Given the description of an element on the screen output the (x, y) to click on. 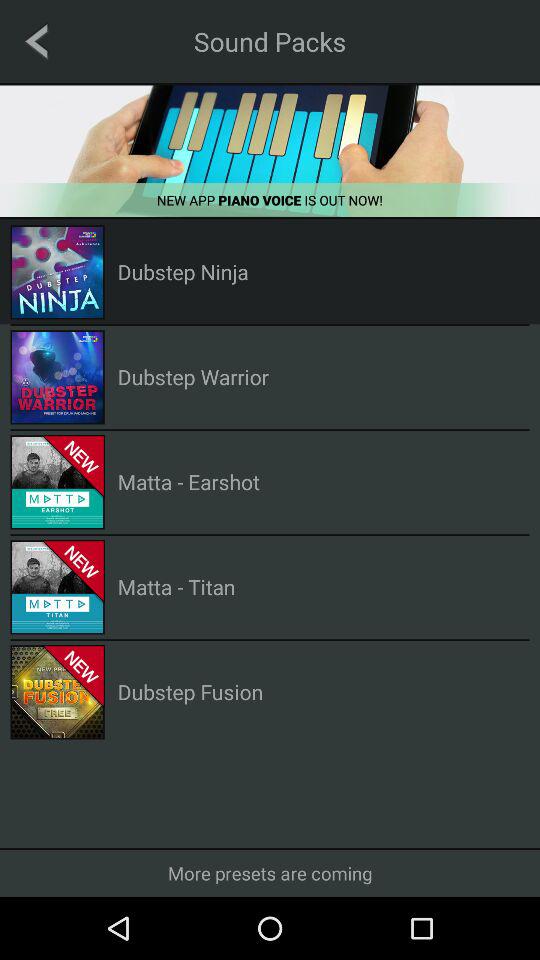
new app piano voice is out now advertisement (270, 150)
